Given the description of an element on the screen output the (x, y) to click on. 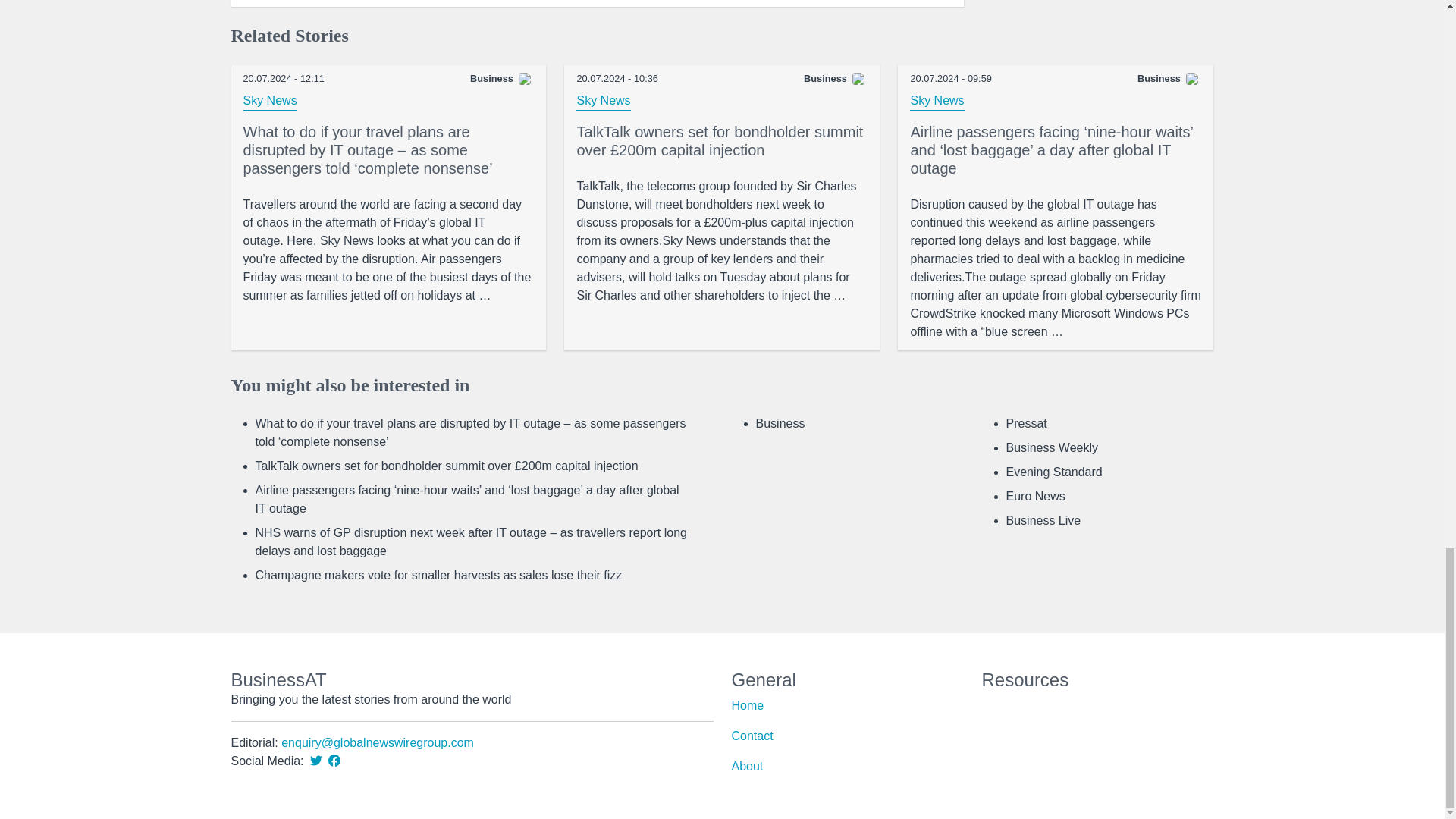
Sky News (270, 100)
Business Weekly (1051, 447)
Pressat (1026, 422)
Sky News (936, 100)
Evening Standard (1054, 472)
Business Live (1043, 520)
Euro News (1035, 495)
Business (780, 422)
Sky News (603, 100)
